Given the description of an element on the screen output the (x, y) to click on. 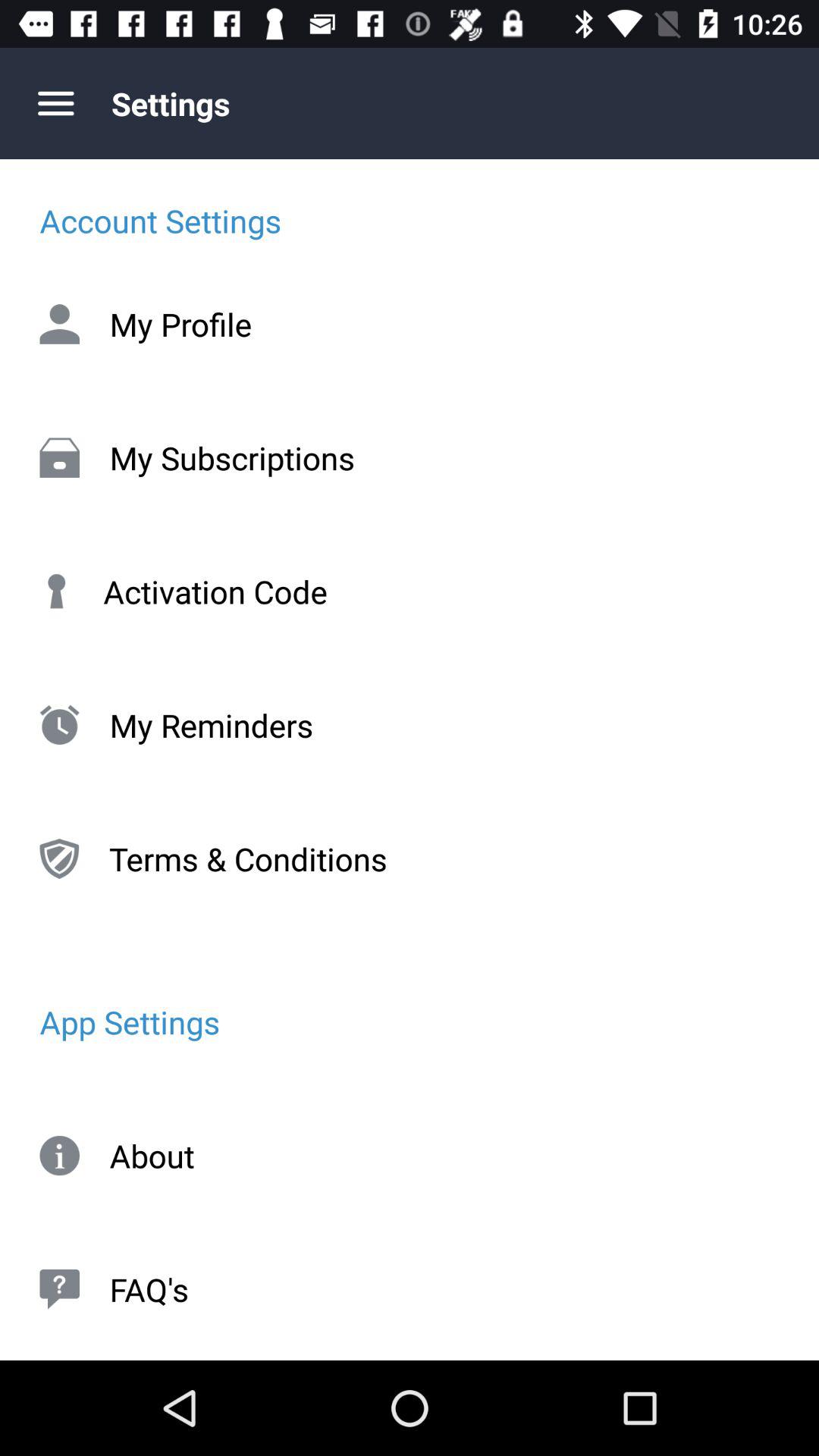
press item below the my profile icon (409, 457)
